Given the description of an element on the screen output the (x, y) to click on. 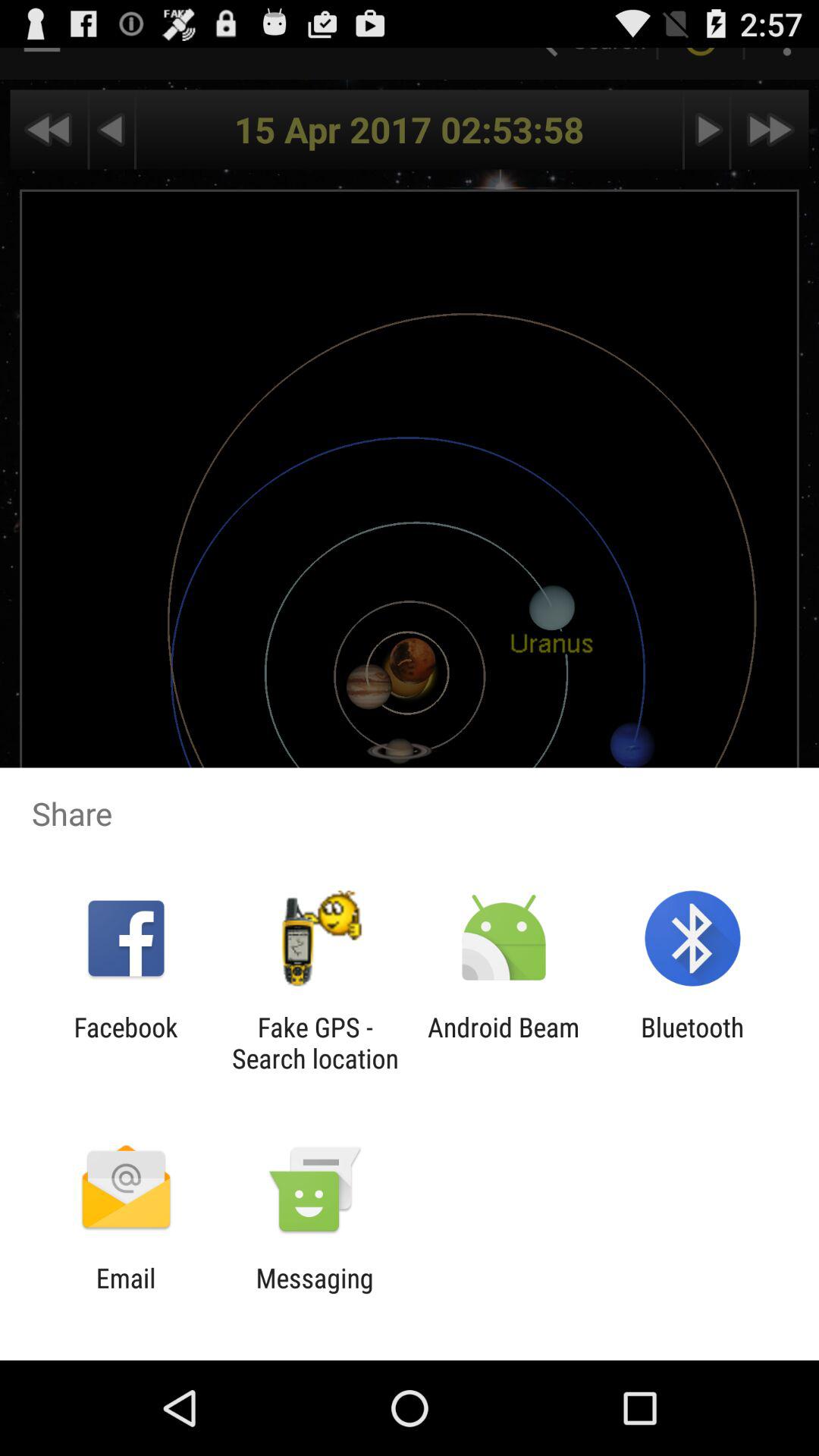
choose bluetooth at the bottom right corner (691, 1042)
